Given the description of an element on the screen output the (x, y) to click on. 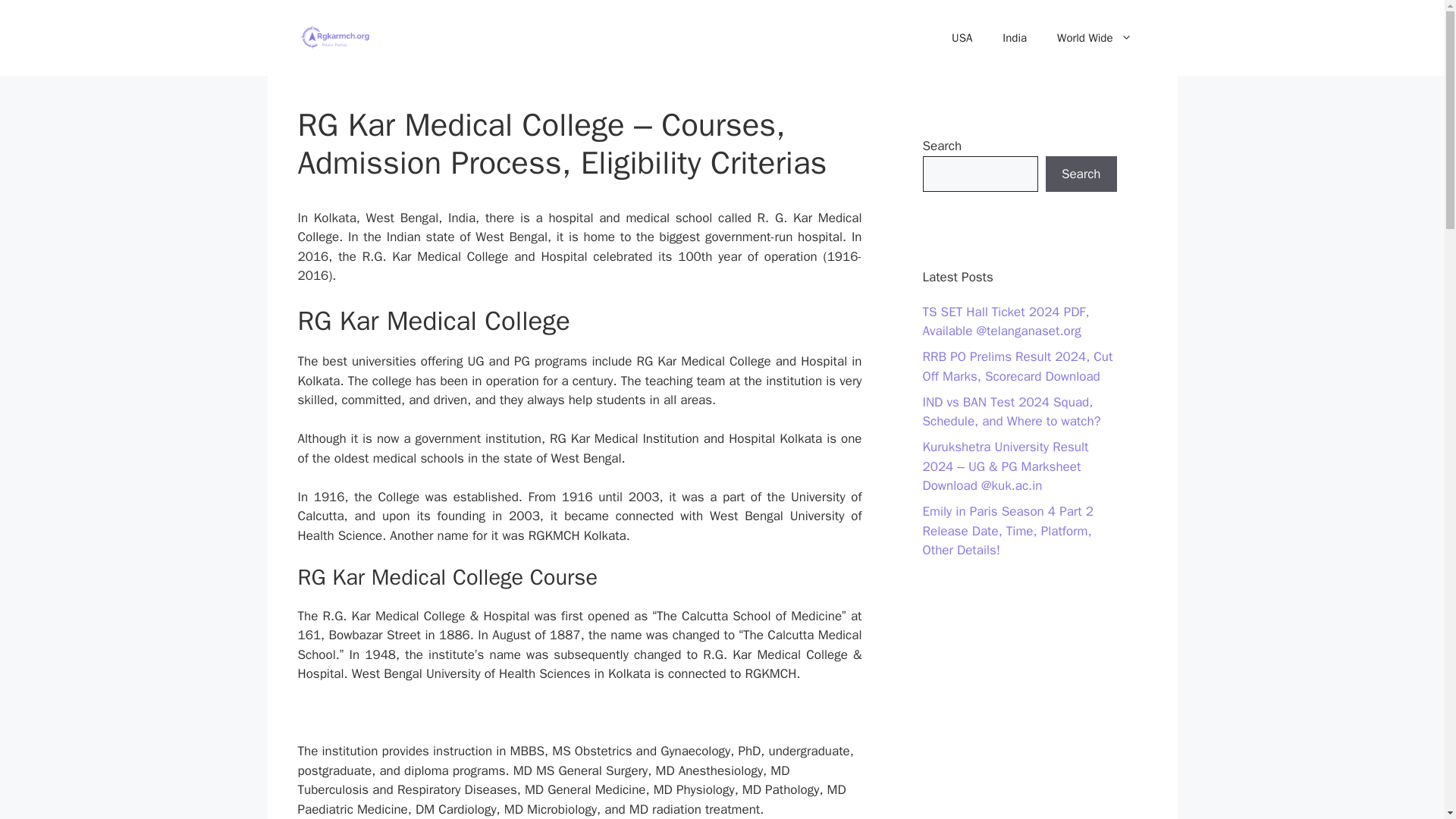
IND vs BAN Test 2024 Squad, Schedule, and Where to watch? (1010, 411)
World Wide (1094, 37)
Search (1080, 174)
India (1014, 37)
USA (961, 37)
